Given the description of an element on the screen output the (x, y) to click on. 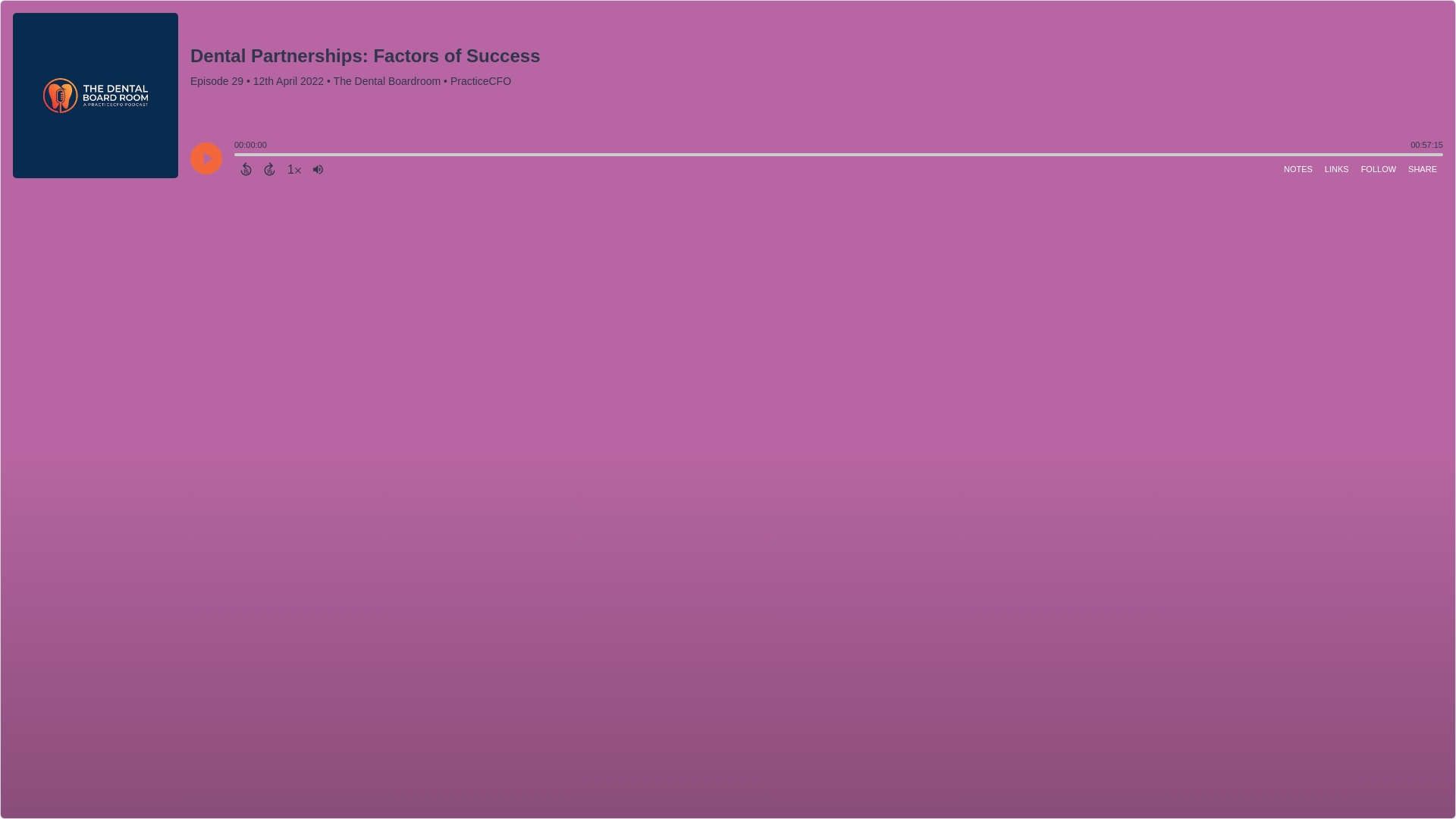
NOTES (1298, 168)
LINKS (1337, 168)
SHARE (1422, 168)
1 (294, 168)
FOLLOW (1378, 168)
